Given the description of an element on the screen output the (x, y) to click on. 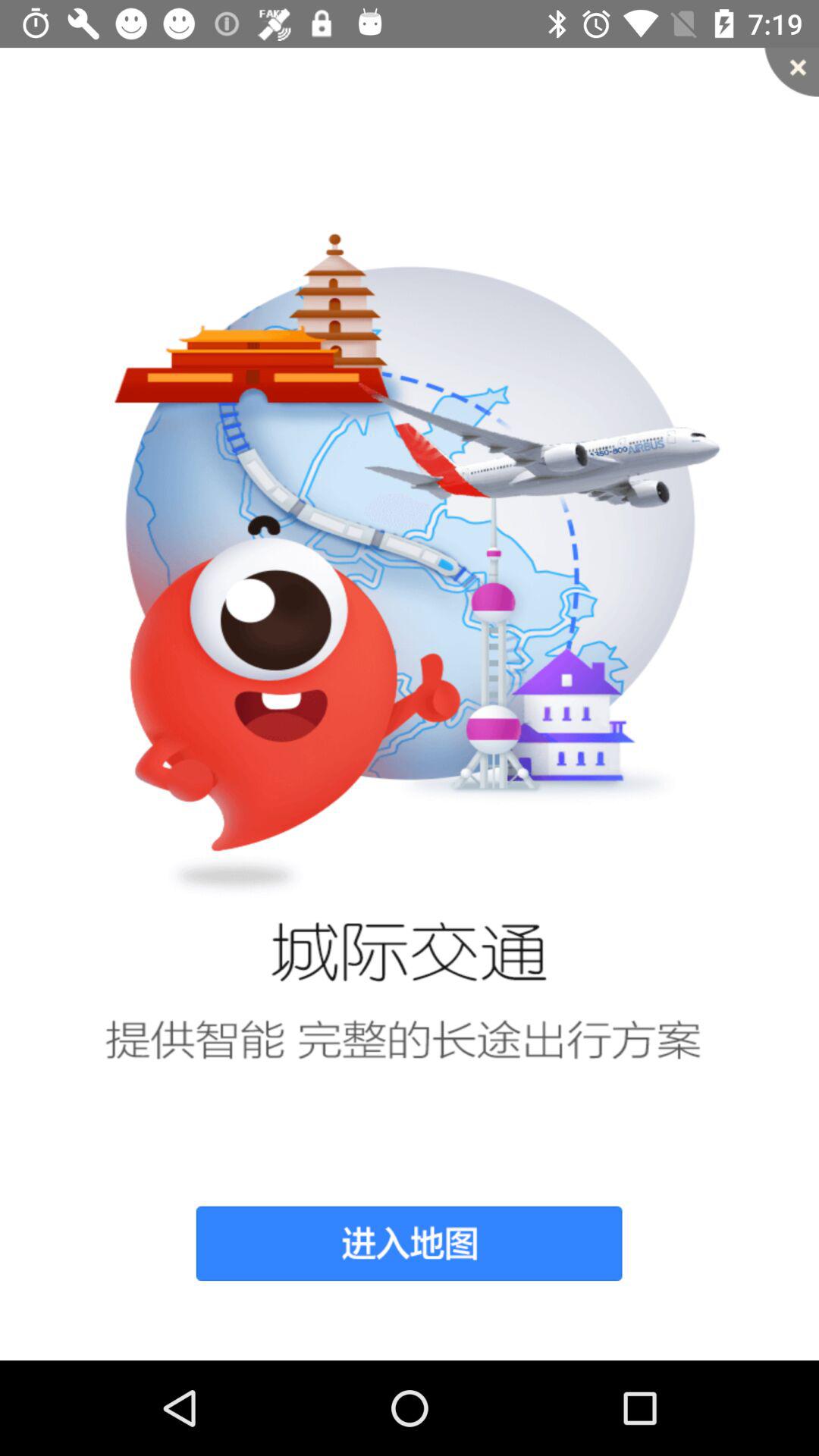
close (791, 71)
